Given the description of an element on the screen output the (x, y) to click on. 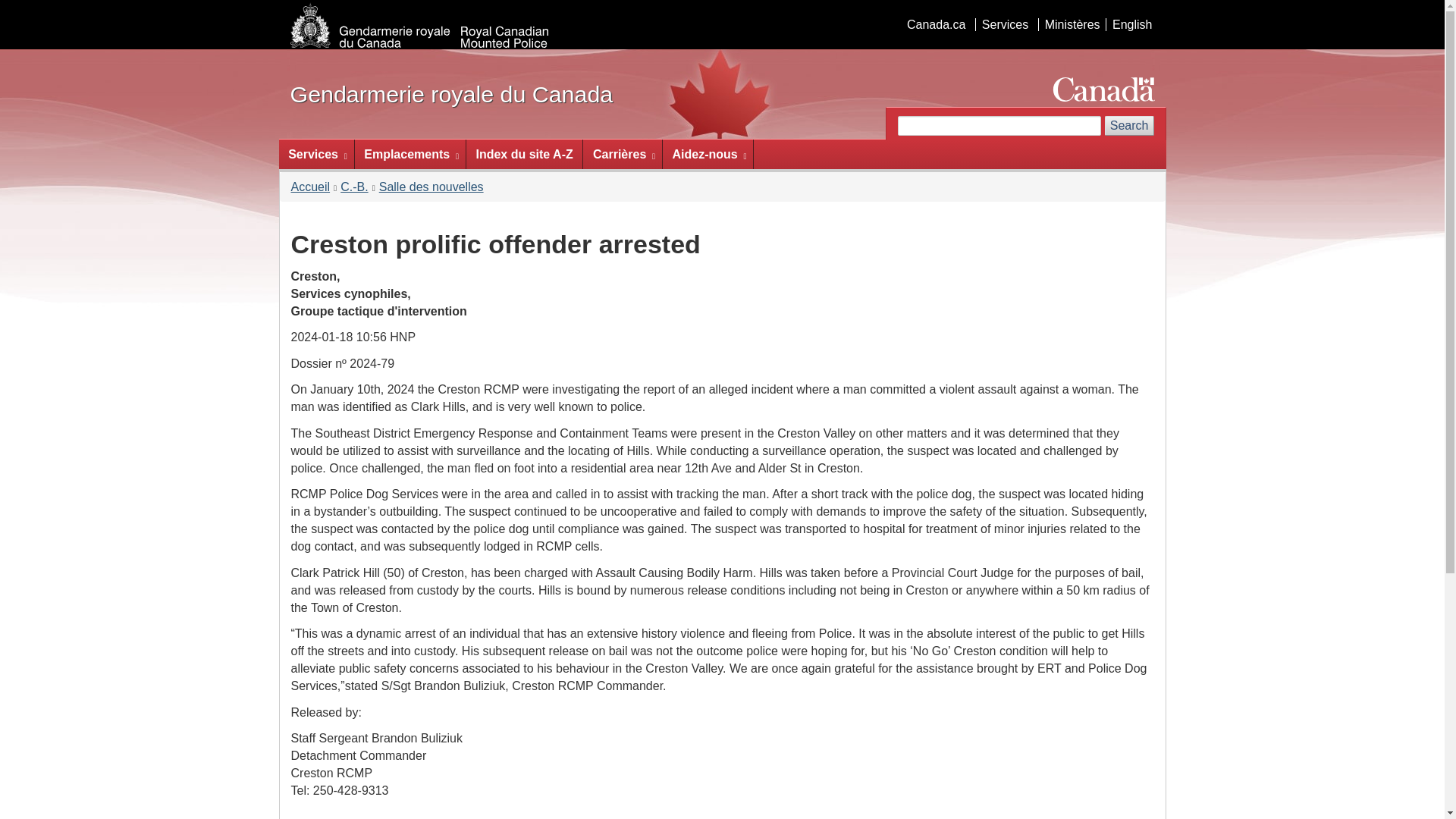
Services (1004, 24)
Canada.ca (936, 24)
Skip to main content (725, 11)
English (1131, 24)
